Given the description of an element on the screen output the (x, y) to click on. 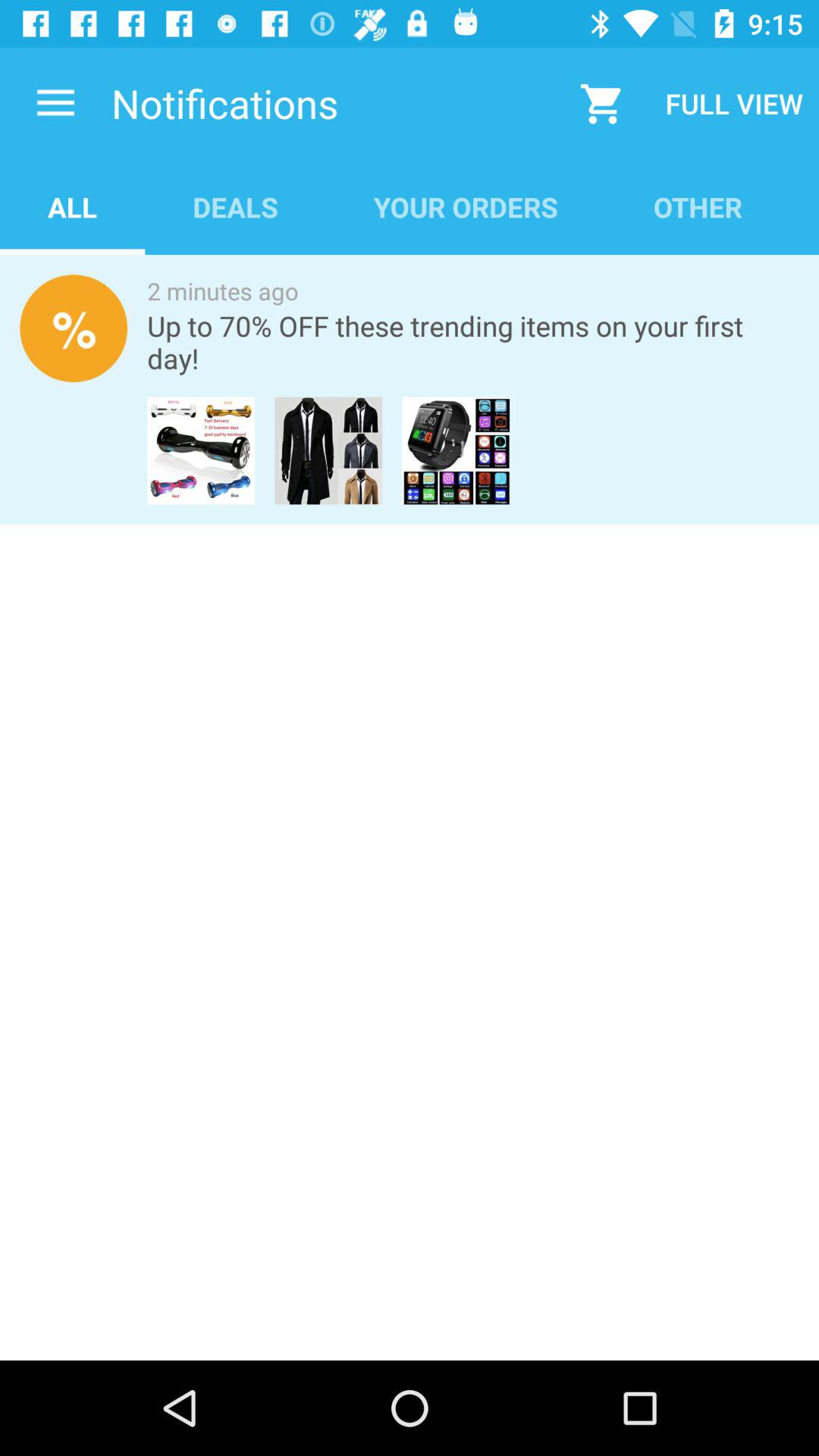
open the item next to deals icon (72, 206)
